Given the description of an element on the screen output the (x, y) to click on. 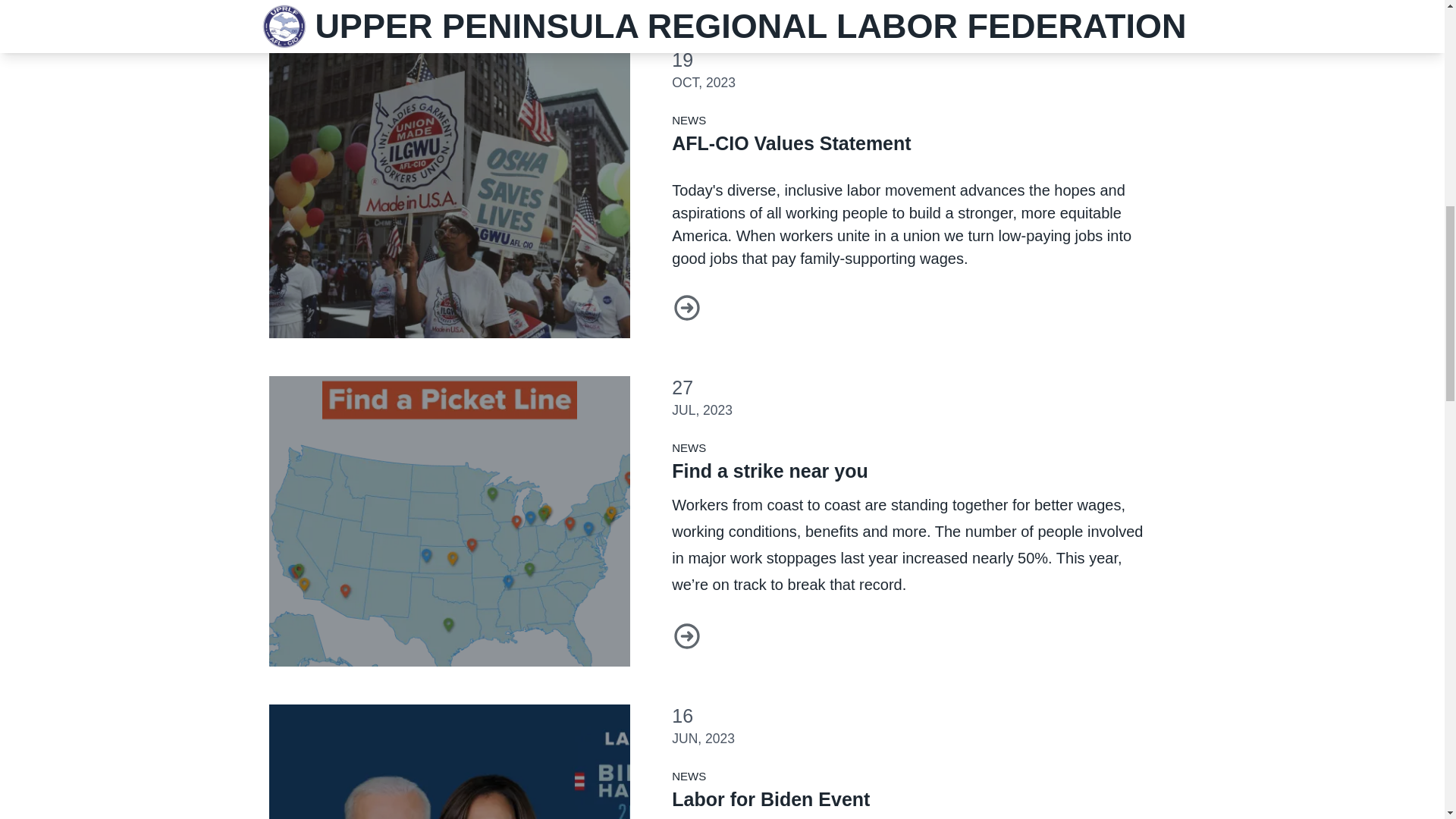
Friday, June 16, 2023 - 13:04 (703, 738)
Thursday, July 27, 2023 - 15:16 (701, 409)
Friday, June 16, 2023 - 13:04 (682, 715)
Thursday, October 19, 2023 - 10:07 (703, 82)
Thursday, October 19, 2023 - 10:07 (682, 59)
Thursday, July 27, 2023 - 15:16 (682, 387)
